Given the description of an element on the screen output the (x, y) to click on. 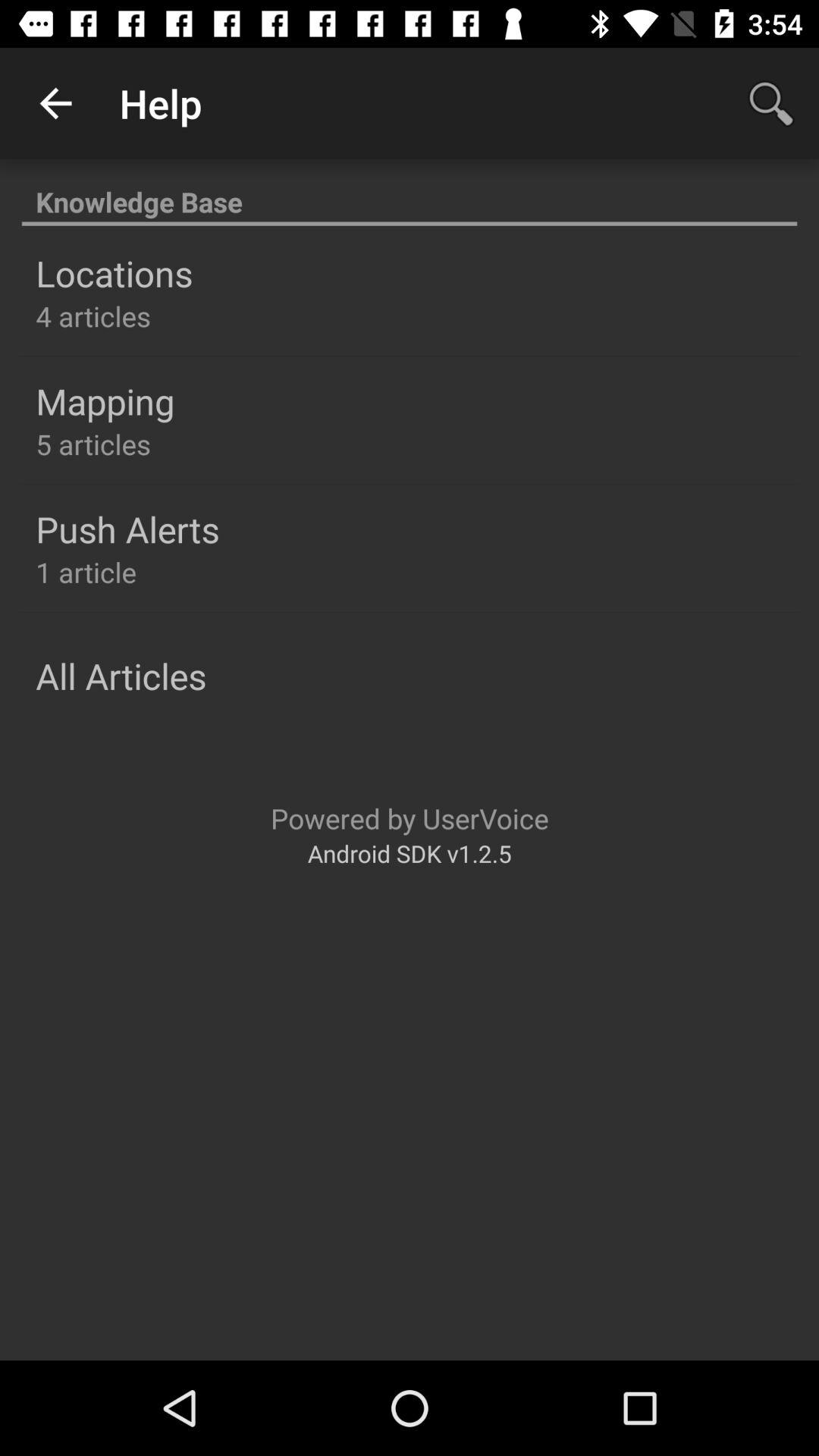
press the item to the left of the help (55, 103)
